Given the description of an element on the screen output the (x, y) to click on. 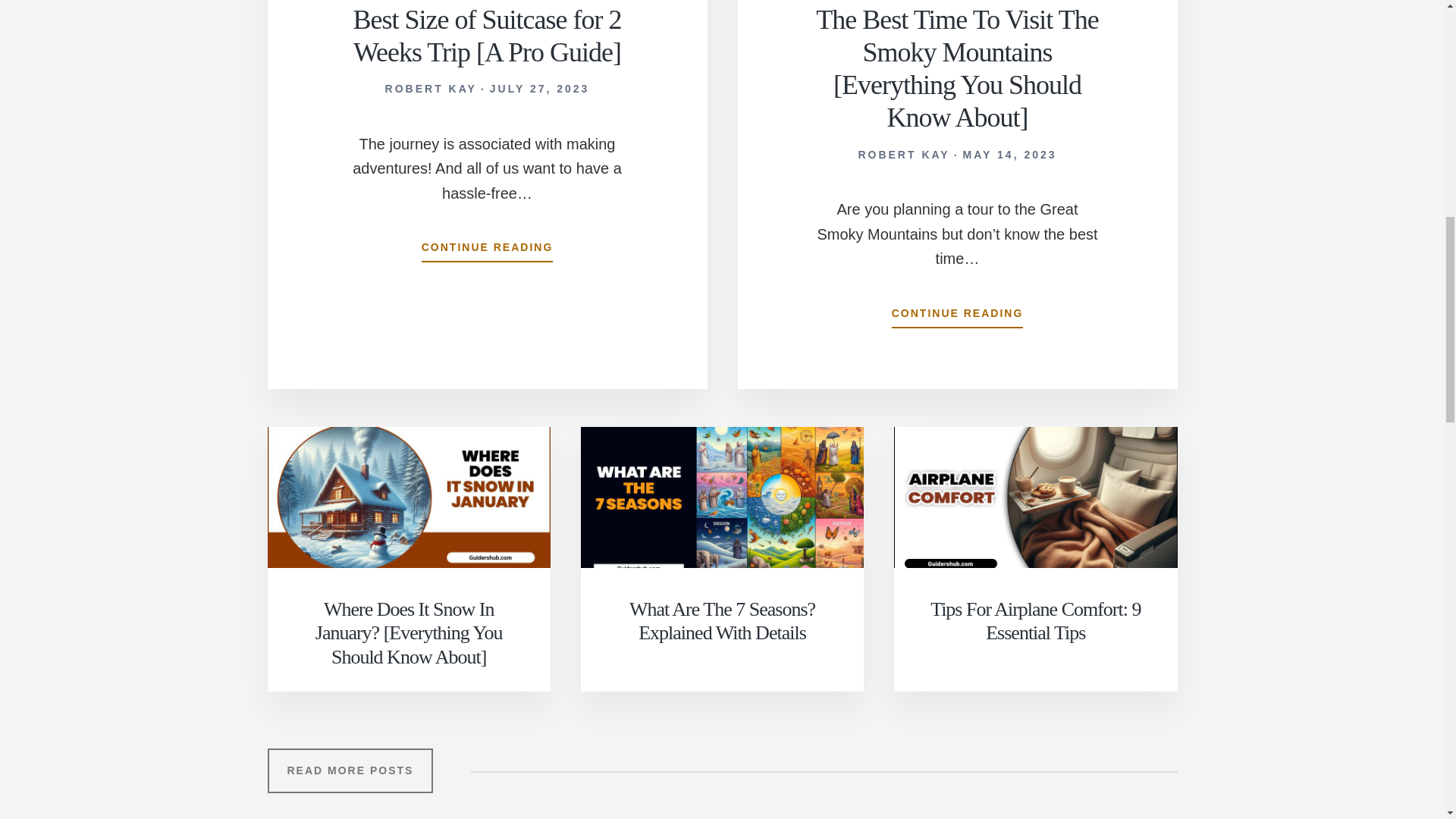
What Are The 7 Seasons? Explained With Details (721, 620)
Tips For Airplane Comfort: 9 Essential Tips (1035, 620)
ROBERT KAY (903, 154)
ROBERT KAY (431, 88)
READ MORE POSTS (349, 770)
